Given the description of an element on the screen output the (x, y) to click on. 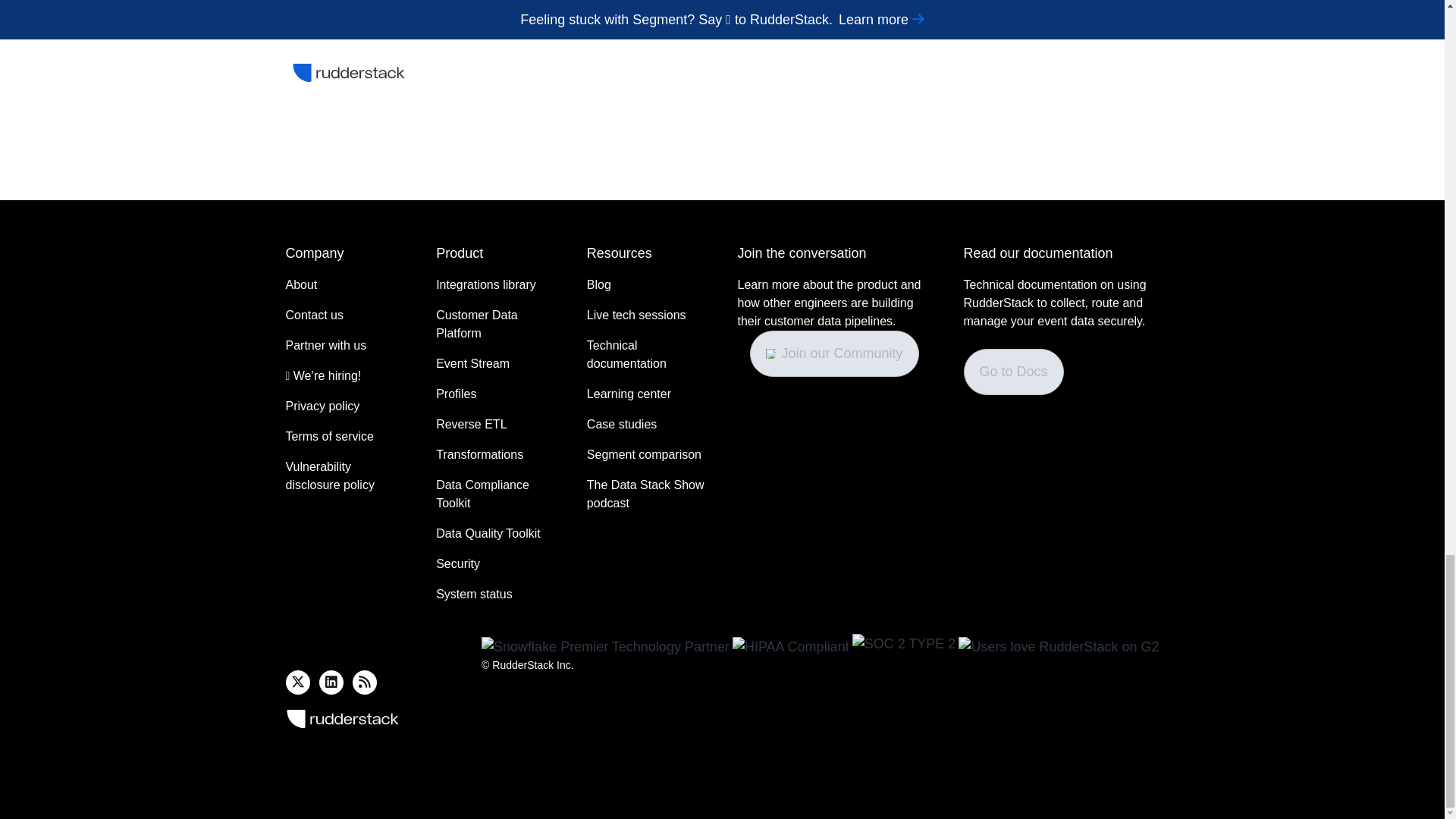
Vulnerability disclosure policy (345, 475)
Terms of service (328, 436)
About (301, 285)
Partner with us (325, 345)
Privacy policy (322, 406)
Contact us (313, 315)
